Given the description of an element on the screen output the (x, y) to click on. 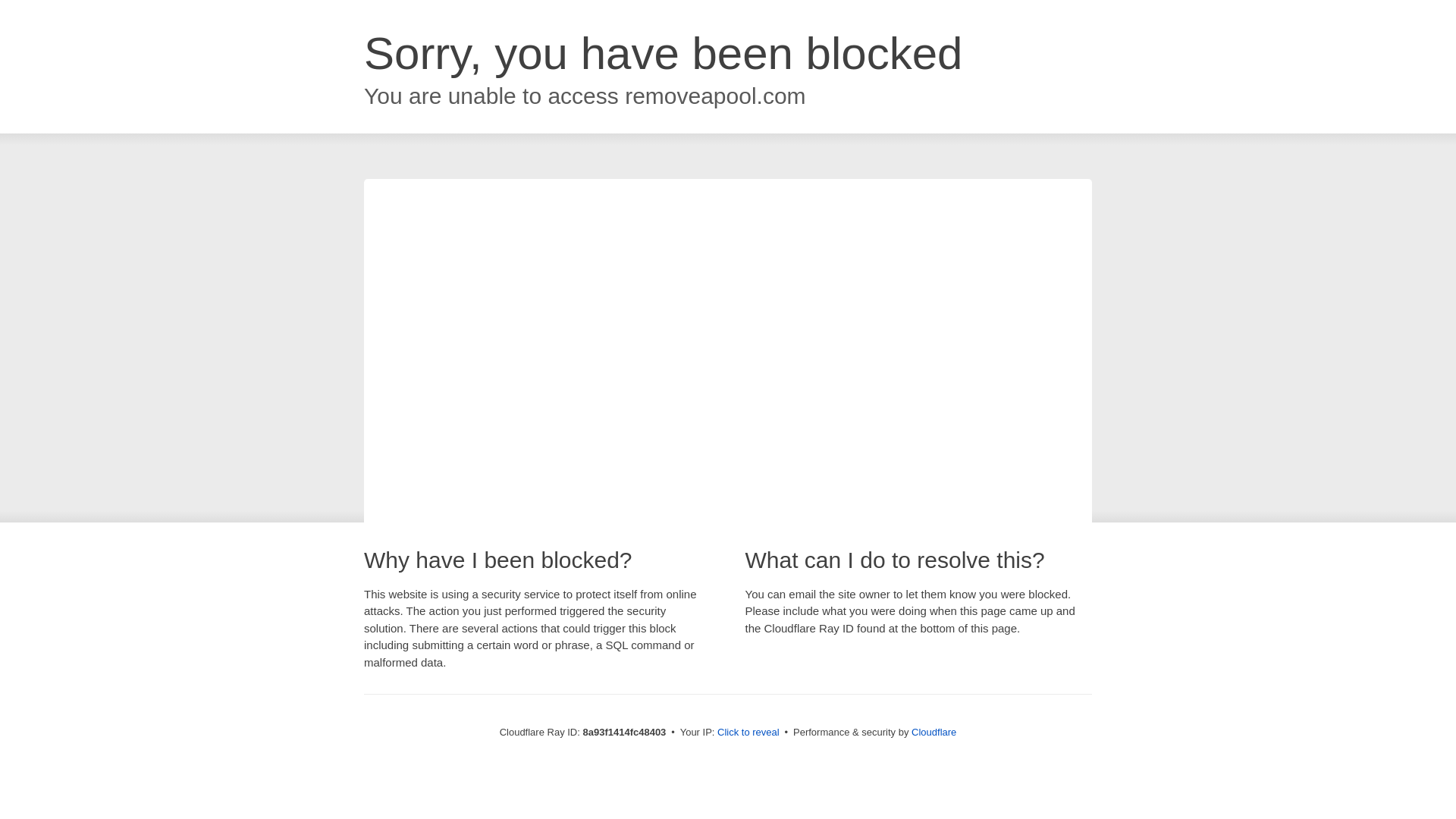
Click to reveal (747, 732)
Cloudflare (933, 731)
